Given the description of an element on the screen output the (x, y) to click on. 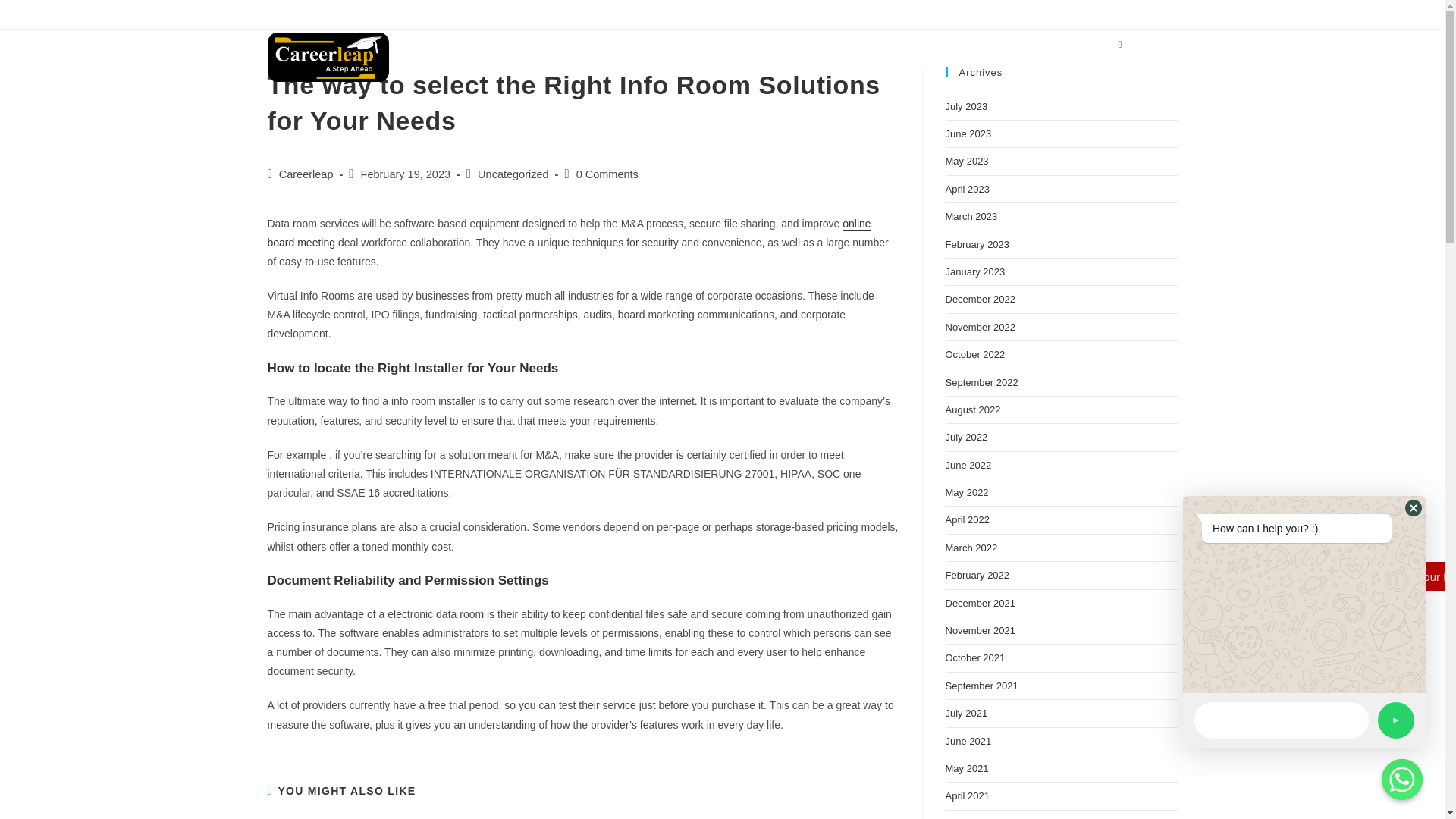
Home (675, 44)
Posts by Careerleap (306, 174)
Study Abroad (744, 44)
Education Loan (836, 44)
